Given the description of an element on the screen output the (x, y) to click on. 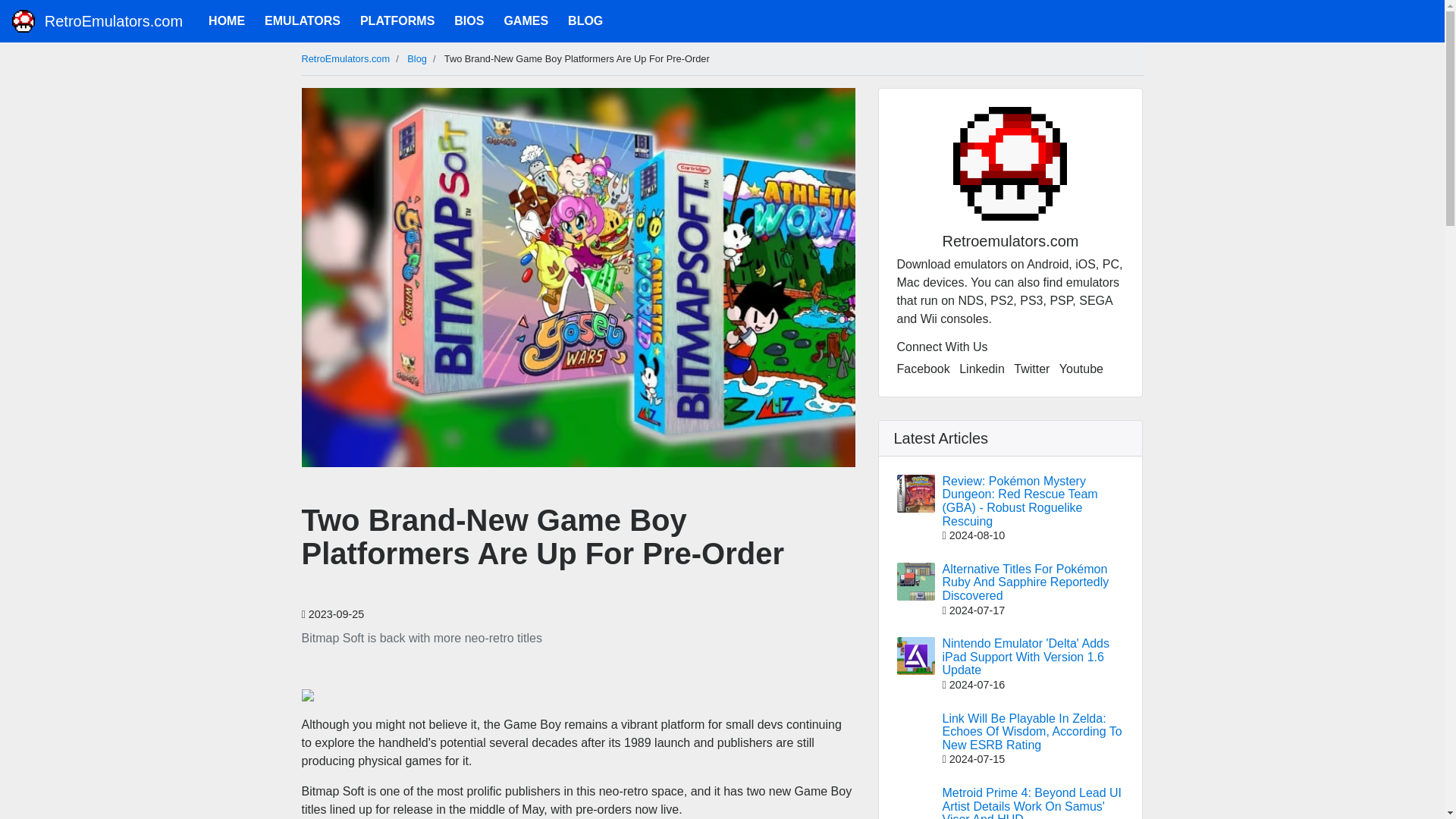
PLATFORMS (397, 20)
RetroEmulators.com (345, 58)
Blog (416, 58)
HOME (226, 20)
RetroEmulators.com (97, 21)
BLOG (585, 20)
BIOS (468, 20)
Twitter (1031, 369)
